Given the description of an element on the screen output the (x, y) to click on. 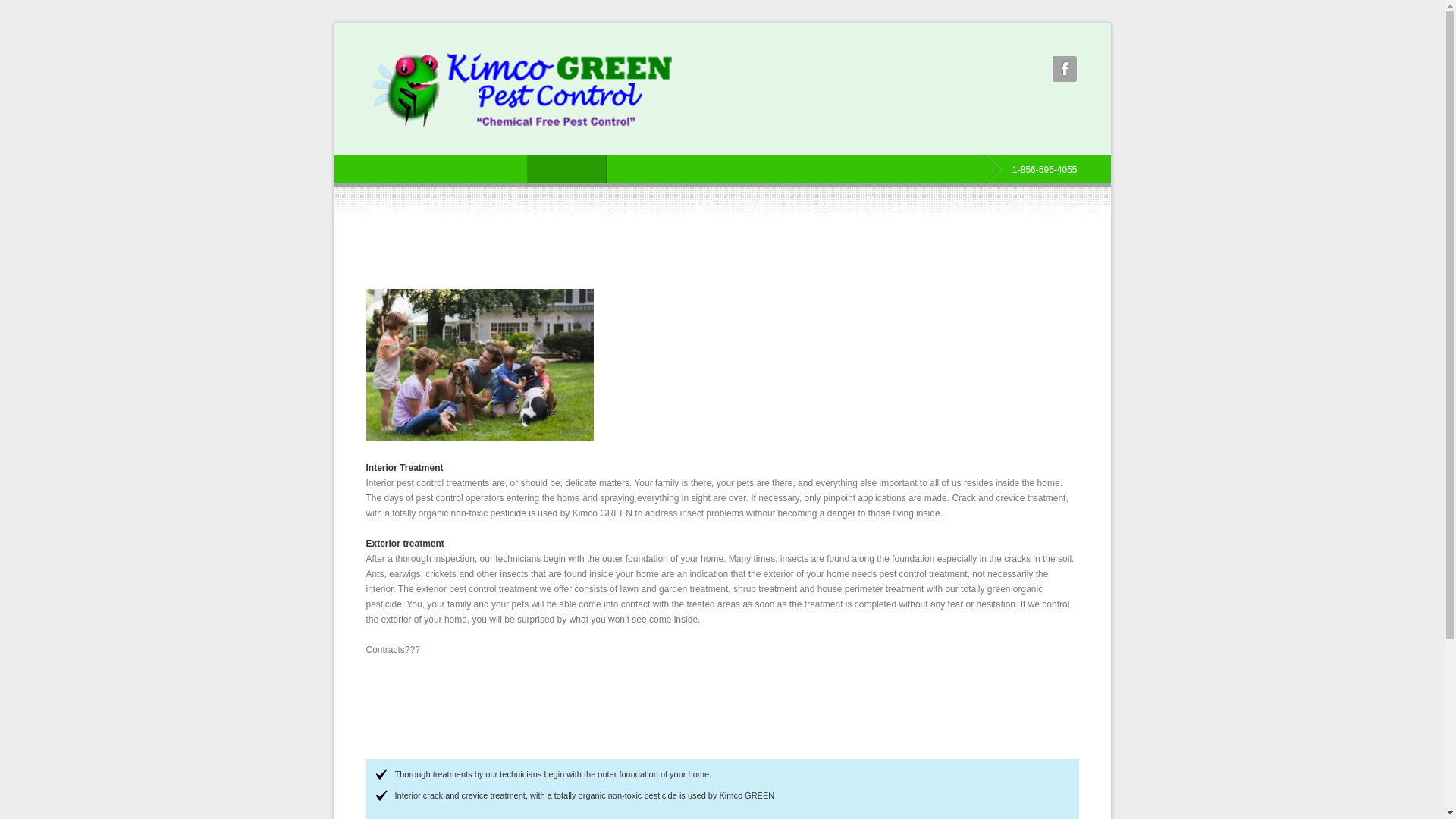
Facebook (1064, 68)
Family (478, 364)
